Given the description of an element on the screen output the (x, y) to click on. 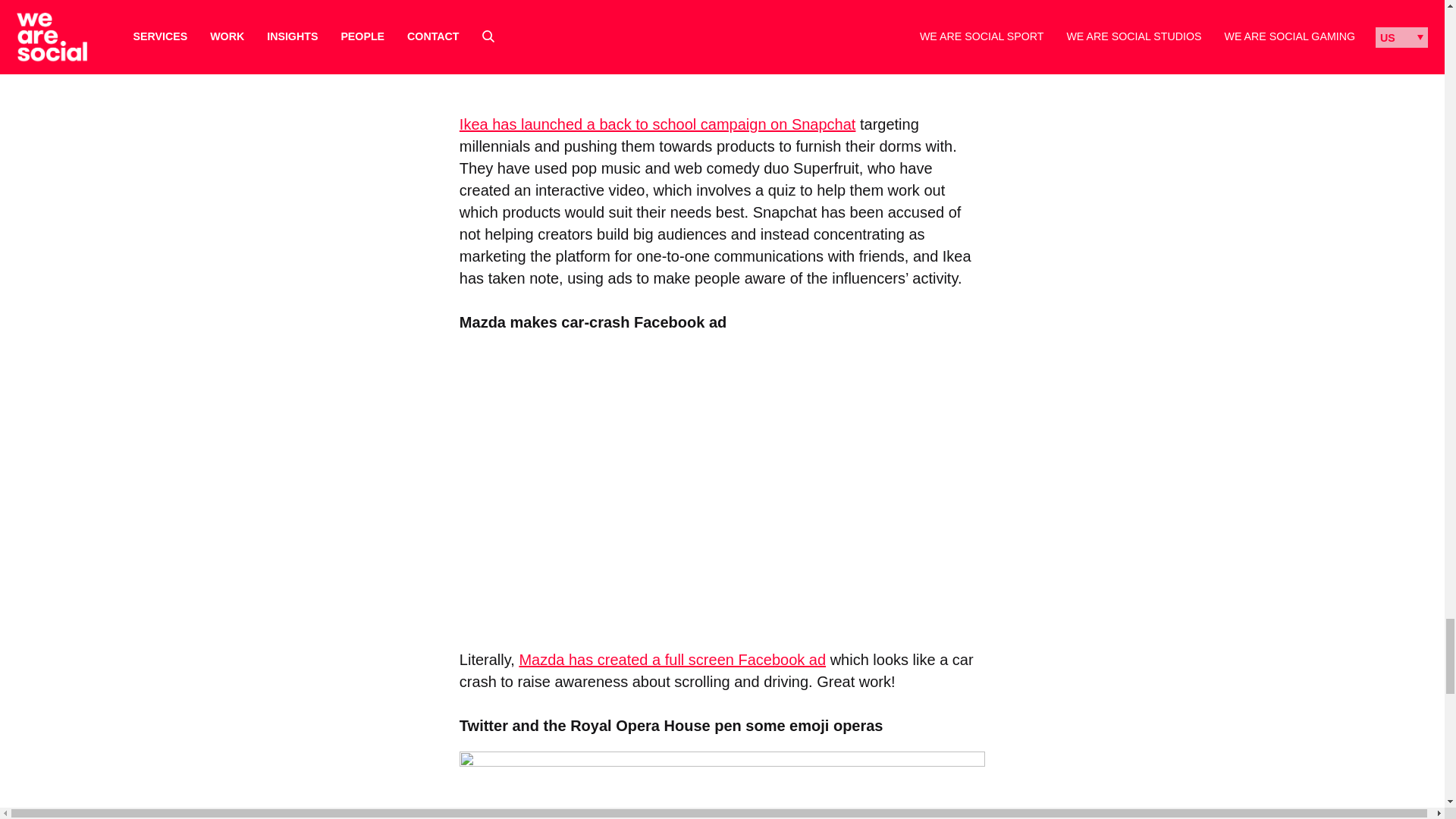
Ikea has launched a back to school campaign on Snapchat (658, 124)
Mazda has created a full screen Facebook ad (671, 659)
